Given the description of an element on the screen output the (x, y) to click on. 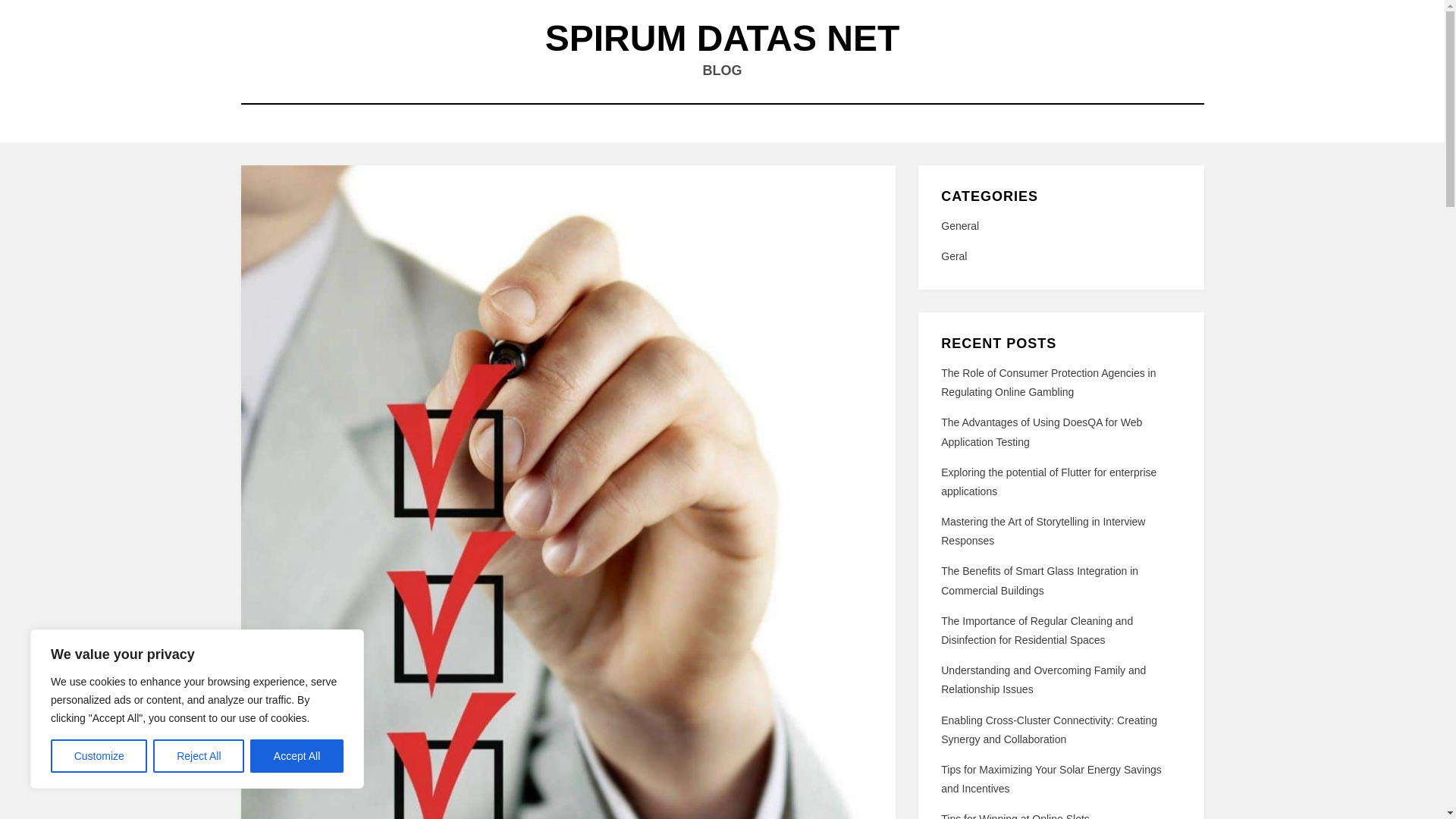
The Advantages of Using DoesQA for Web Application Testing (1040, 431)
Accept All (296, 756)
SPIRUM DATAS NET (721, 38)
Mastering the Art of Storytelling in Interview Responses (1042, 531)
Reject All (198, 756)
Spirum Datas Net (721, 38)
Geral (1060, 256)
General (1060, 226)
Customize (98, 756)
